Given the description of an element on the screen output the (x, y) to click on. 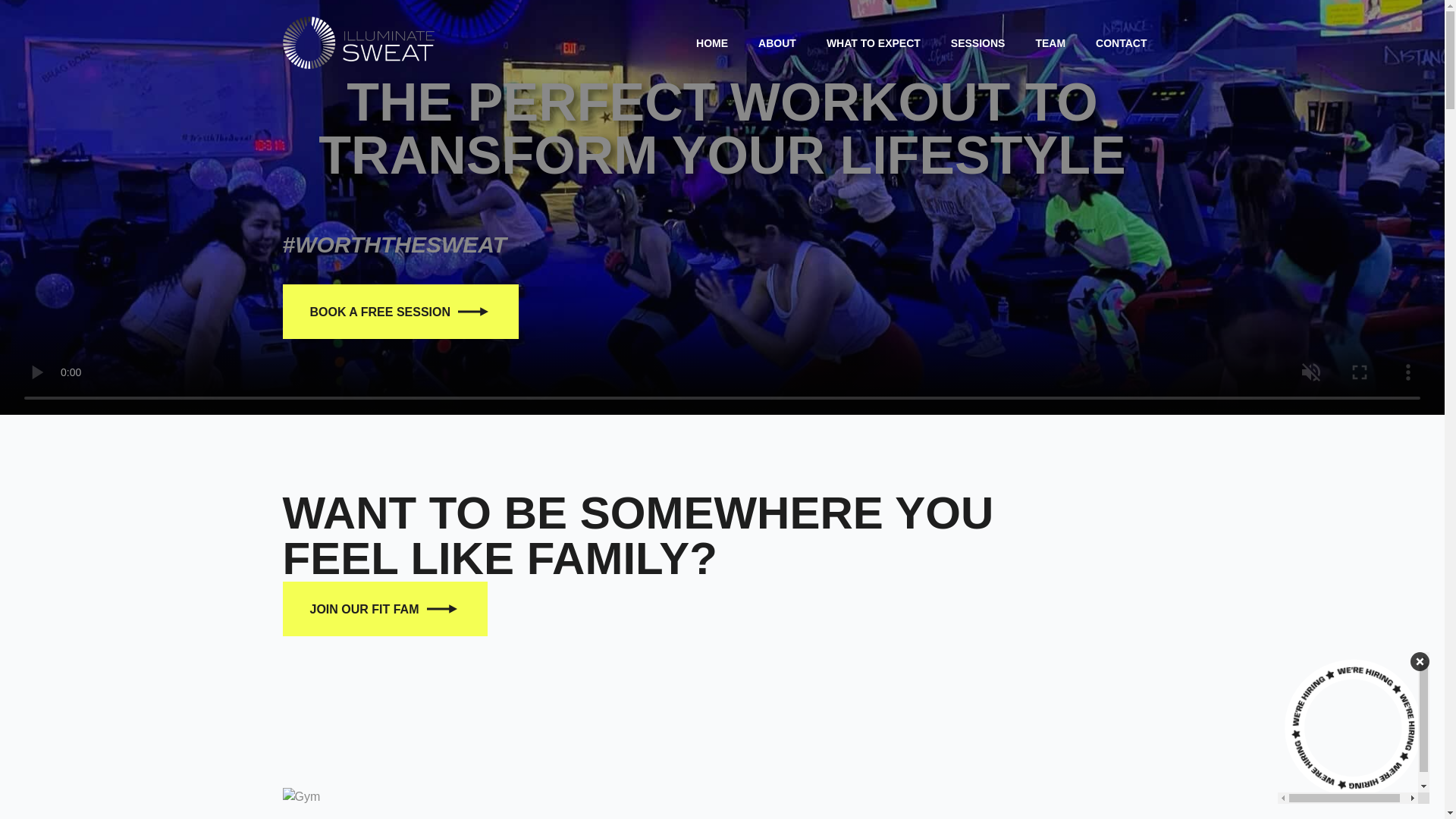
CONTACT (1120, 42)
SESSIONS (978, 42)
BOOK A FREE SESSION (400, 311)
ABOUT (776, 42)
HOME (711, 42)
WHAT TO EXPECT (873, 42)
JOIN OUR FIT FAM (384, 608)
TEAM (1050, 42)
